Given the description of an element on the screen output the (x, y) to click on. 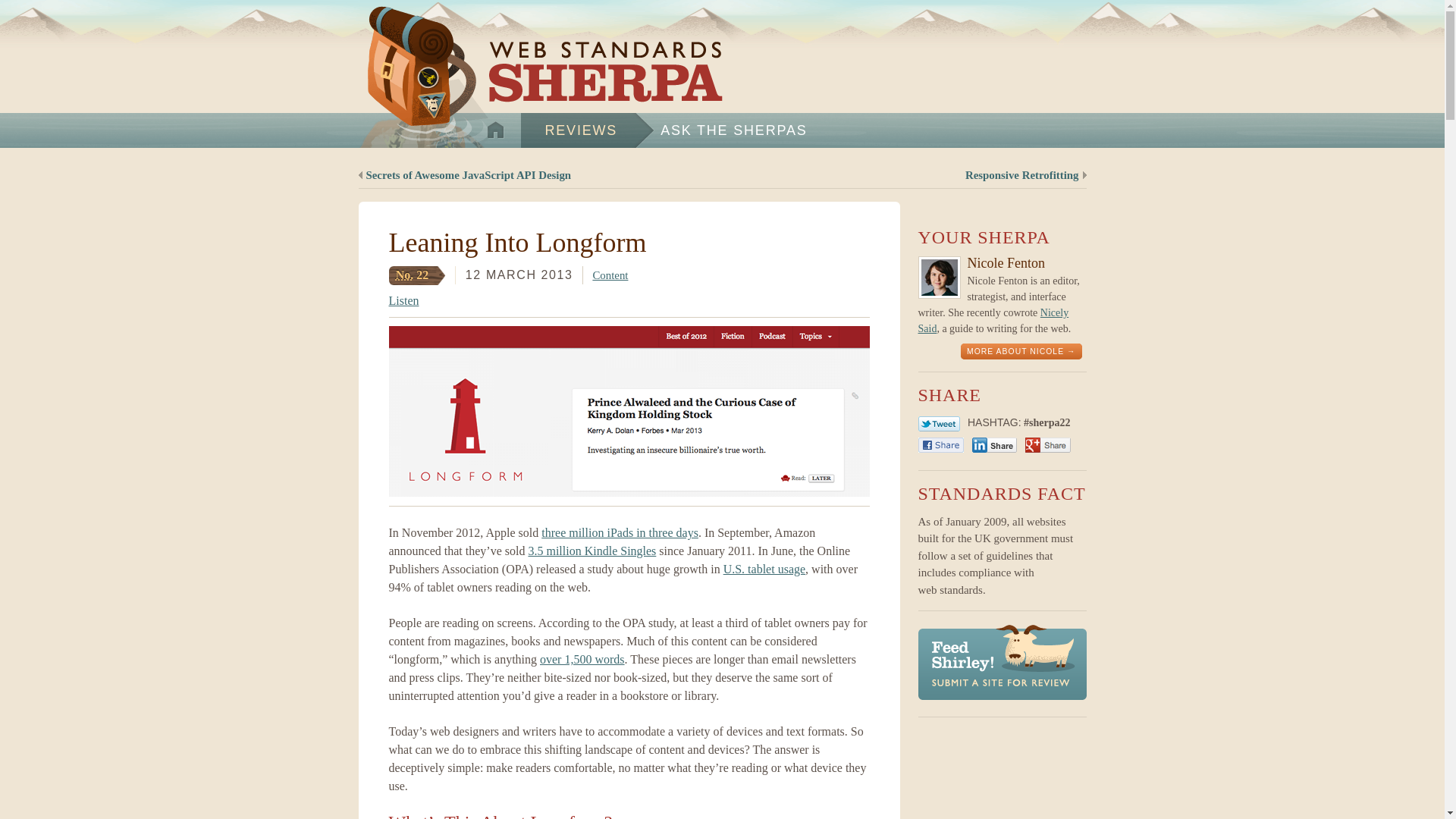
U.S. tablet usage (764, 568)
Number (404, 274)
Return to the homepage (537, 83)
REVIEWS (587, 130)
Share on Google Plus (1047, 444)
Web Standards Sherpa (537, 83)
Content (609, 275)
3.5 million Kindle Singles (591, 550)
over 1,500 words (582, 658)
three million iPads in three days (619, 532)
Share on Facebook (939, 444)
Listen to this page using ReadSpeaker (403, 300)
Share on LinkedIn (994, 444)
ASK THE SHERPAS (740, 130)
HOME (494, 130)
